Given the description of an element on the screen output the (x, y) to click on. 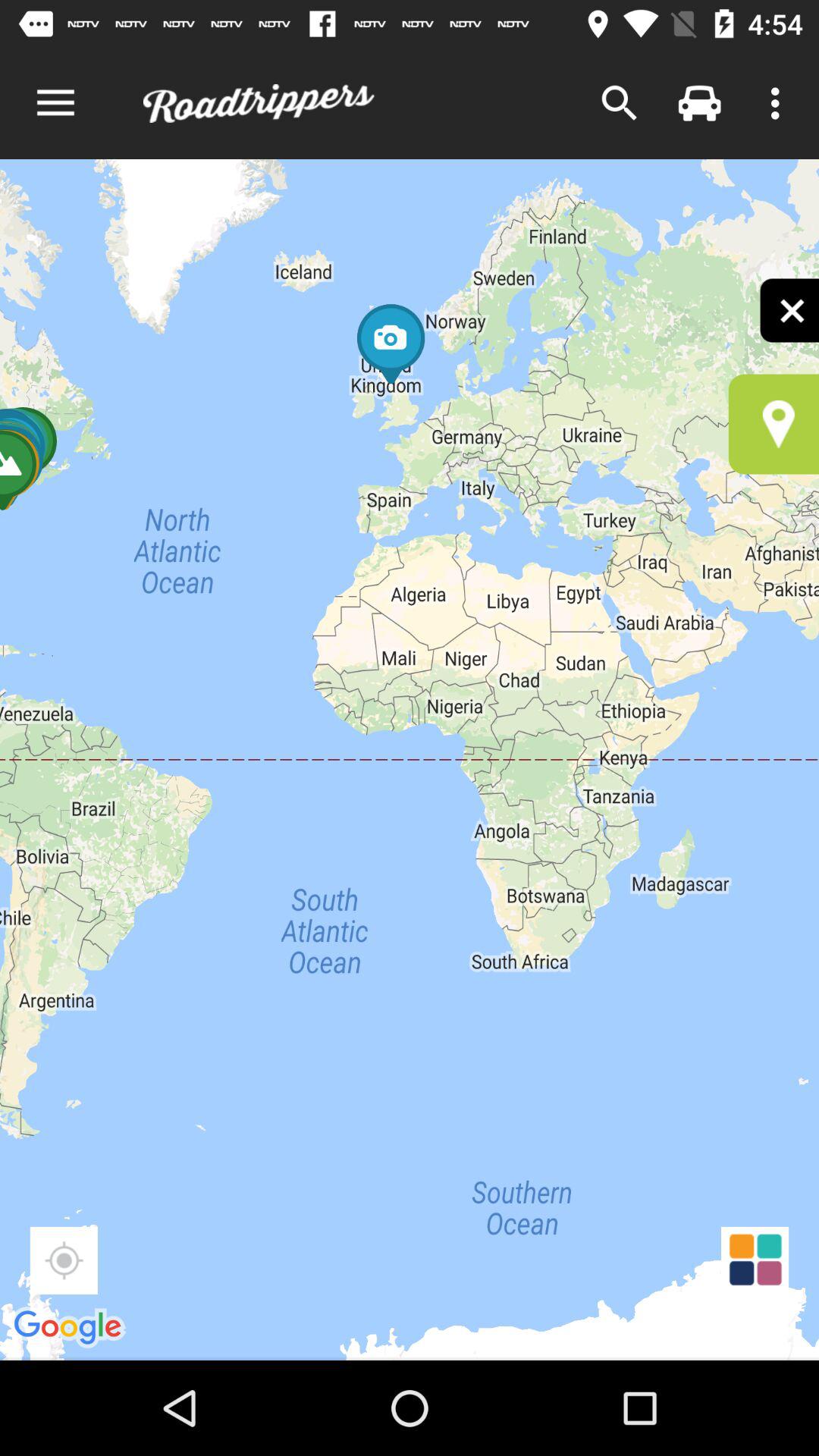
go to location (773, 424)
